Given the description of an element on the screen output the (x, y) to click on. 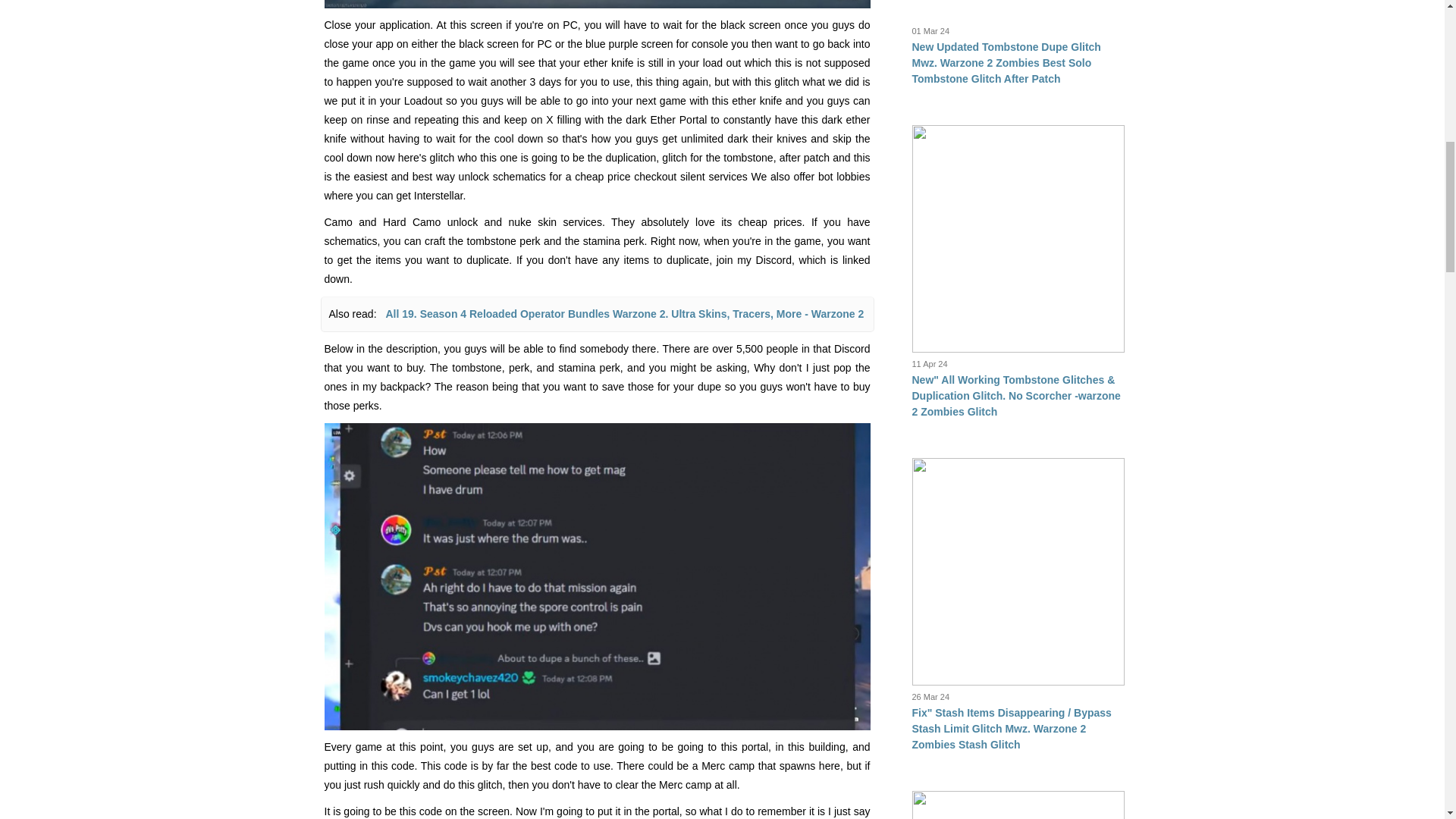
glitches (597, 4)
